Given the description of an element on the screen output the (x, y) to click on. 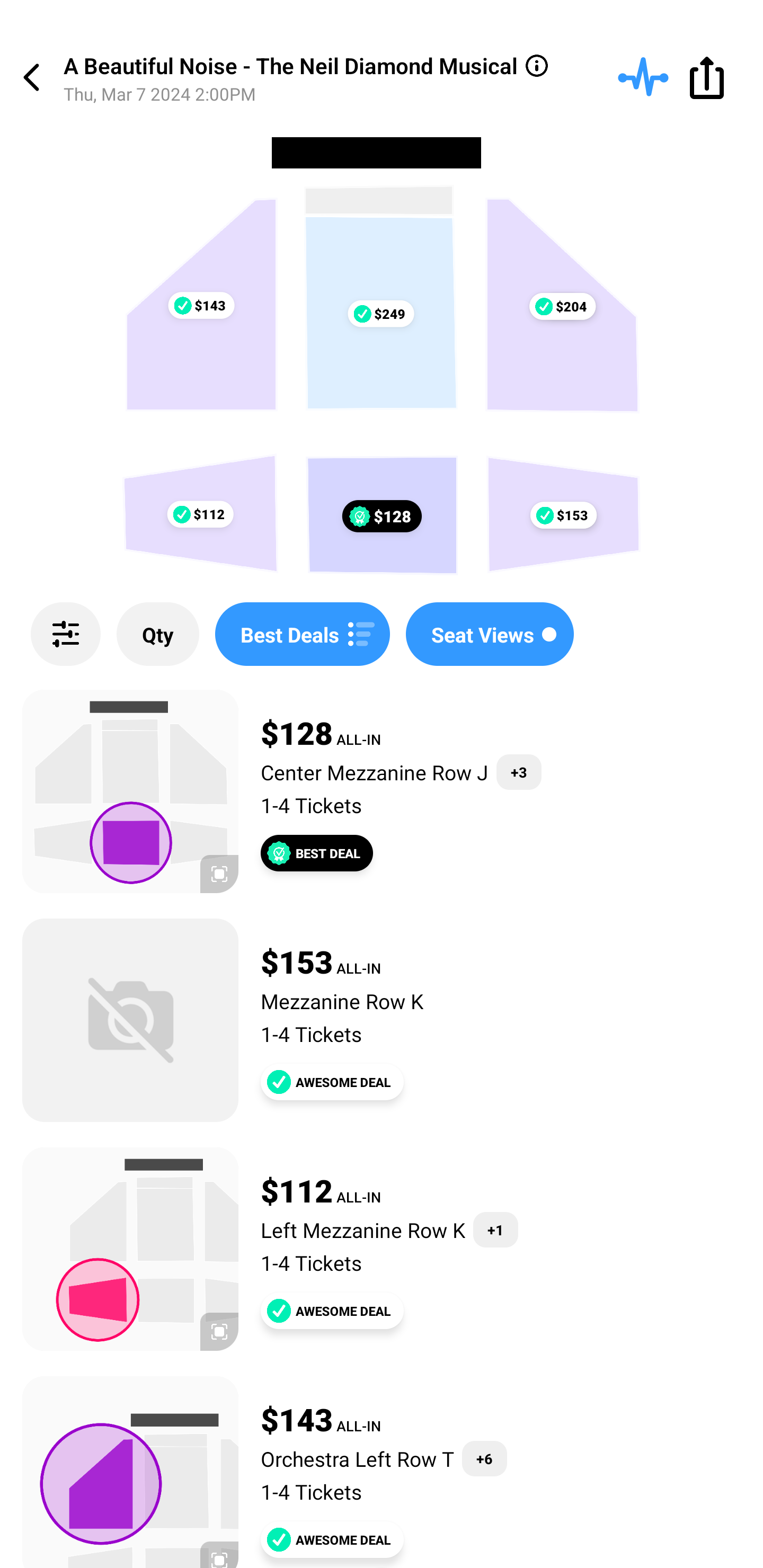
$249 (380, 313)
Qty (157, 634)
Best Deals (302, 634)
Seat Views (489, 634)
+3 (518, 772)
BEST DEAL (316, 852)
AWESOME DEAL (331, 1081)
+1 (495, 1230)
AWESOME DEAL (331, 1310)
+6 (484, 1458)
AWESOME DEAL (331, 1539)
